Given the description of an element on the screen output the (x, y) to click on. 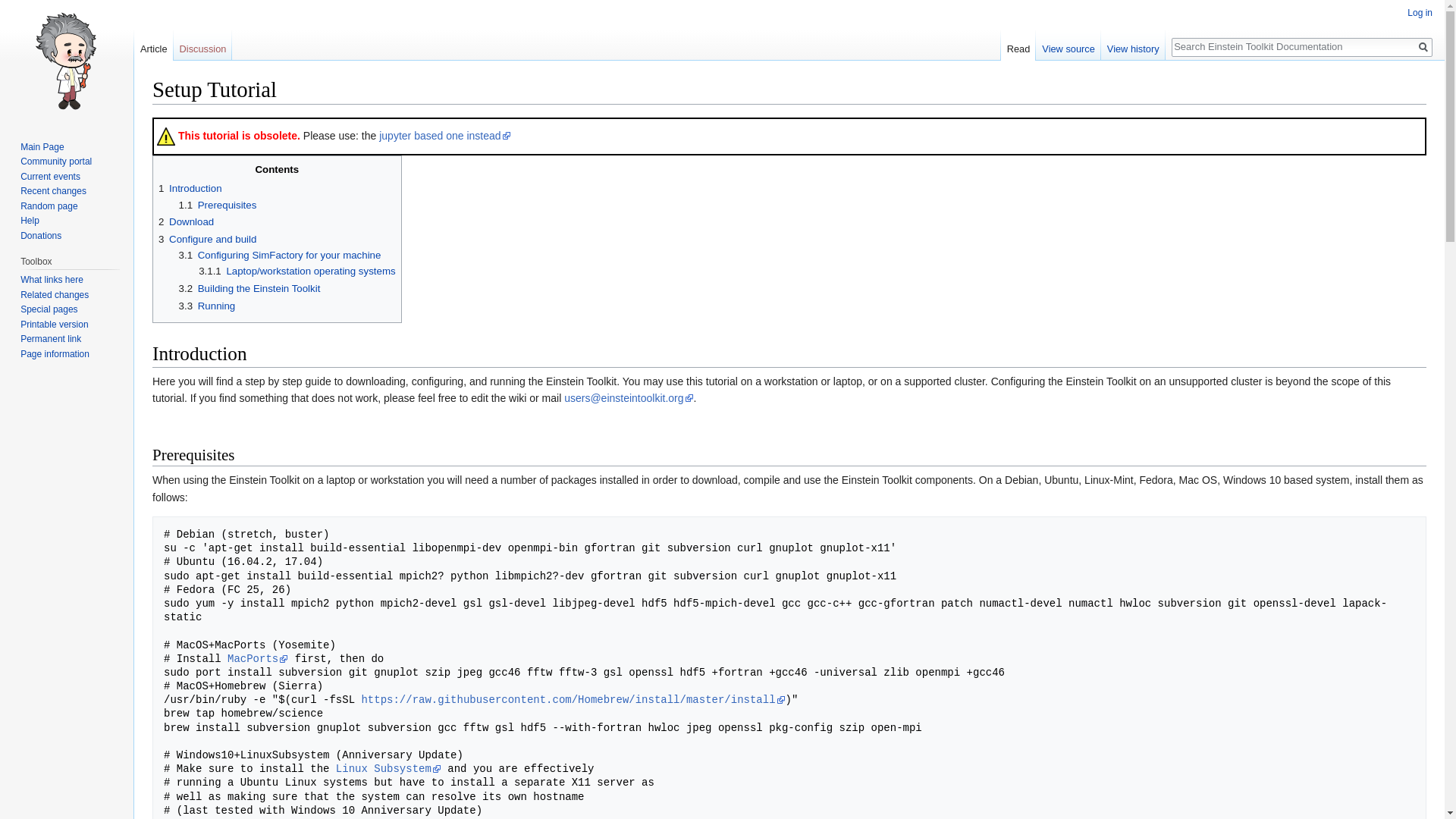
MacPorts (257, 658)
Help (29, 220)
Visit the main page (66, 60)
3.2 Building the Einstein Toolkit (249, 288)
jupyter based one instead (444, 135)
View history (1133, 45)
Go (1423, 46)
Main Page (42, 146)
About the project, what you can do, where to find things (55, 161)
Log in (1419, 12)
